Given the description of an element on the screen output the (x, y) to click on. 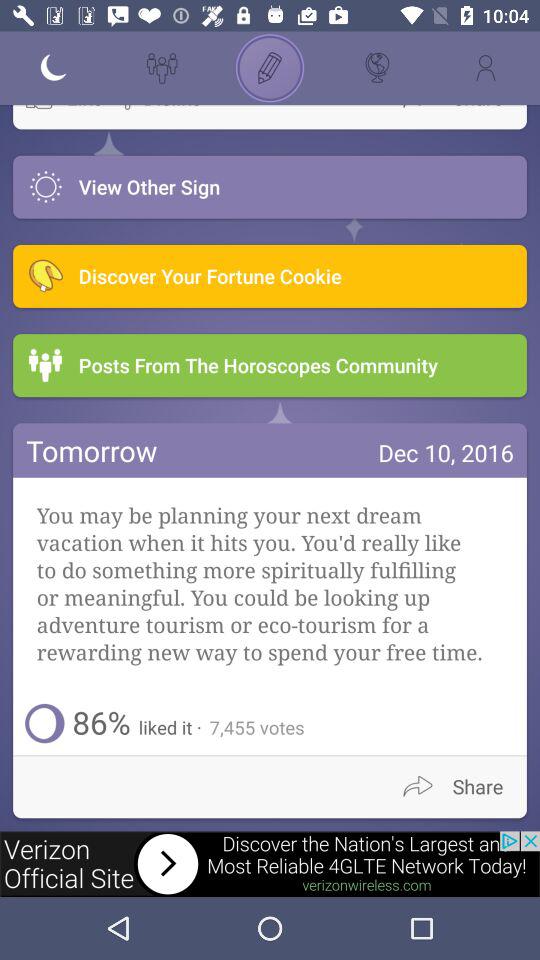
click to the advertisement (270, 864)
